Given the description of an element on the screen output the (x, y) to click on. 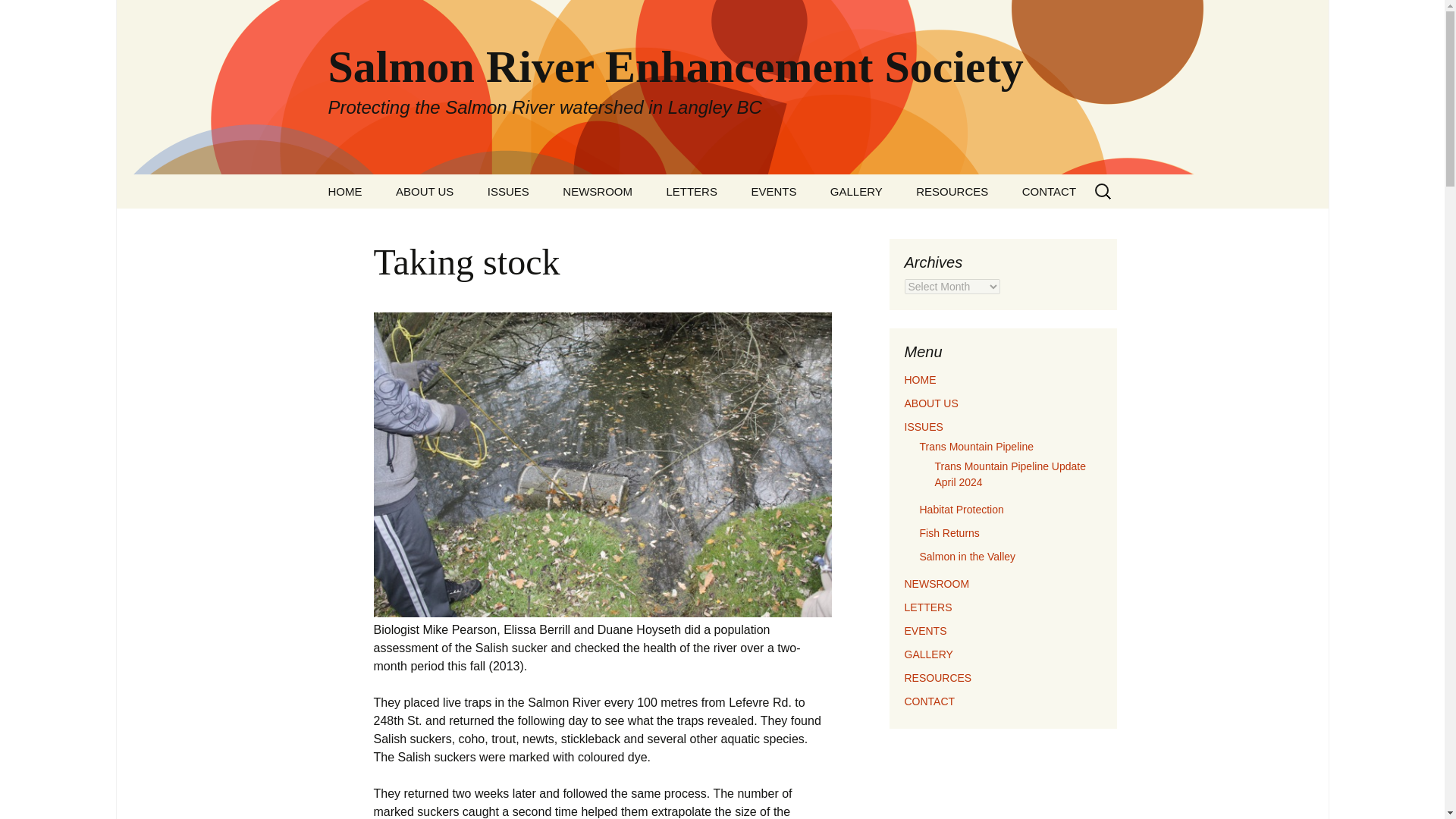
Salmon in the Valley (966, 556)
CONTACT (929, 701)
Trans Mountain Pipeline (975, 446)
LETTERS (691, 191)
Search (34, 15)
LETTERS (928, 607)
RESOURCES (952, 191)
Search (18, 15)
Trans Mountain Pipeline Update April 2024 (1010, 474)
Habitat Protection (960, 509)
